Given the description of an element on the screen output the (x, y) to click on. 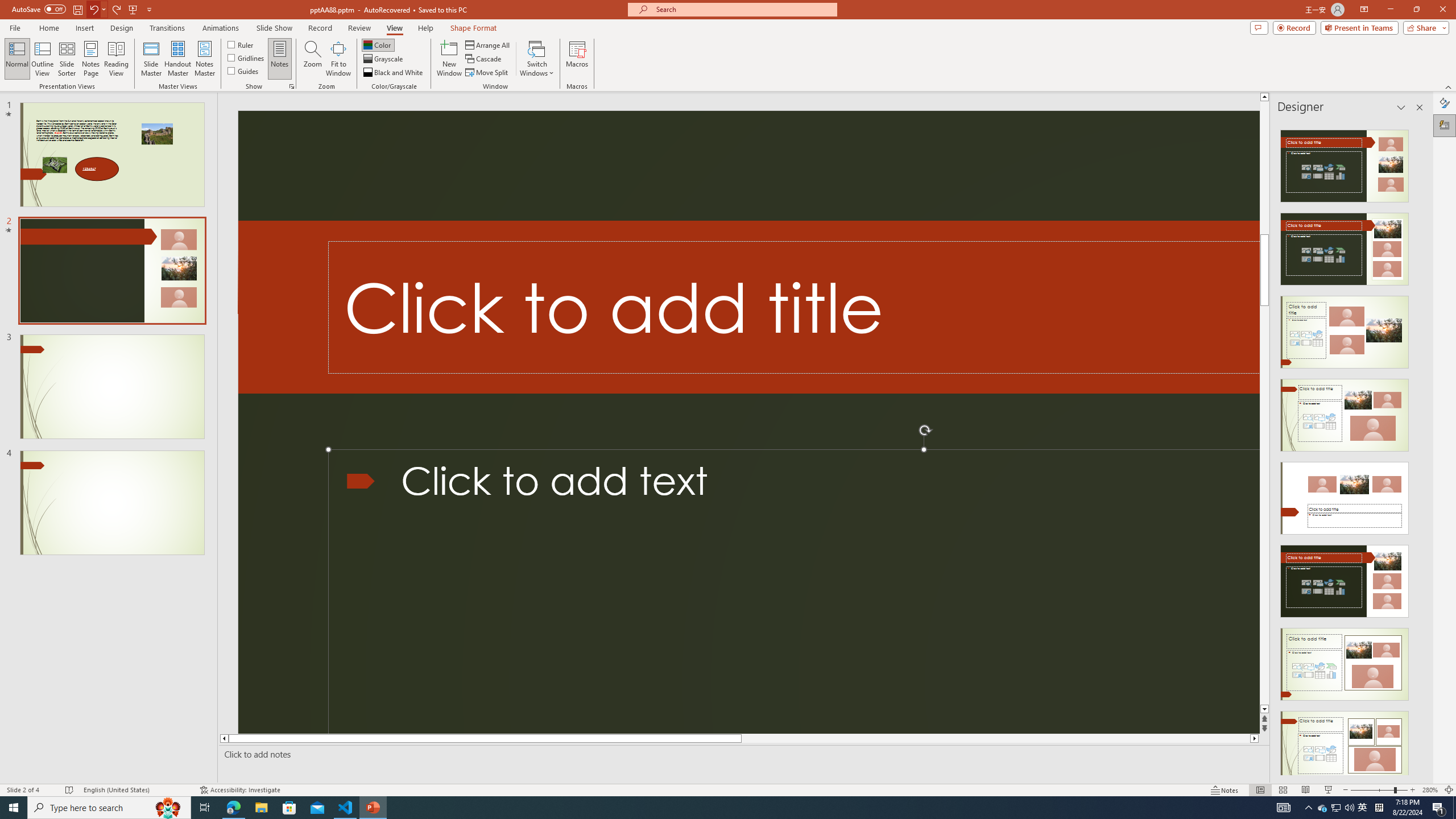
Zoom... (312, 58)
New Window (449, 58)
Content Placeholder (794, 591)
Notes (279, 58)
